Given the description of an element on the screen output the (x, y) to click on. 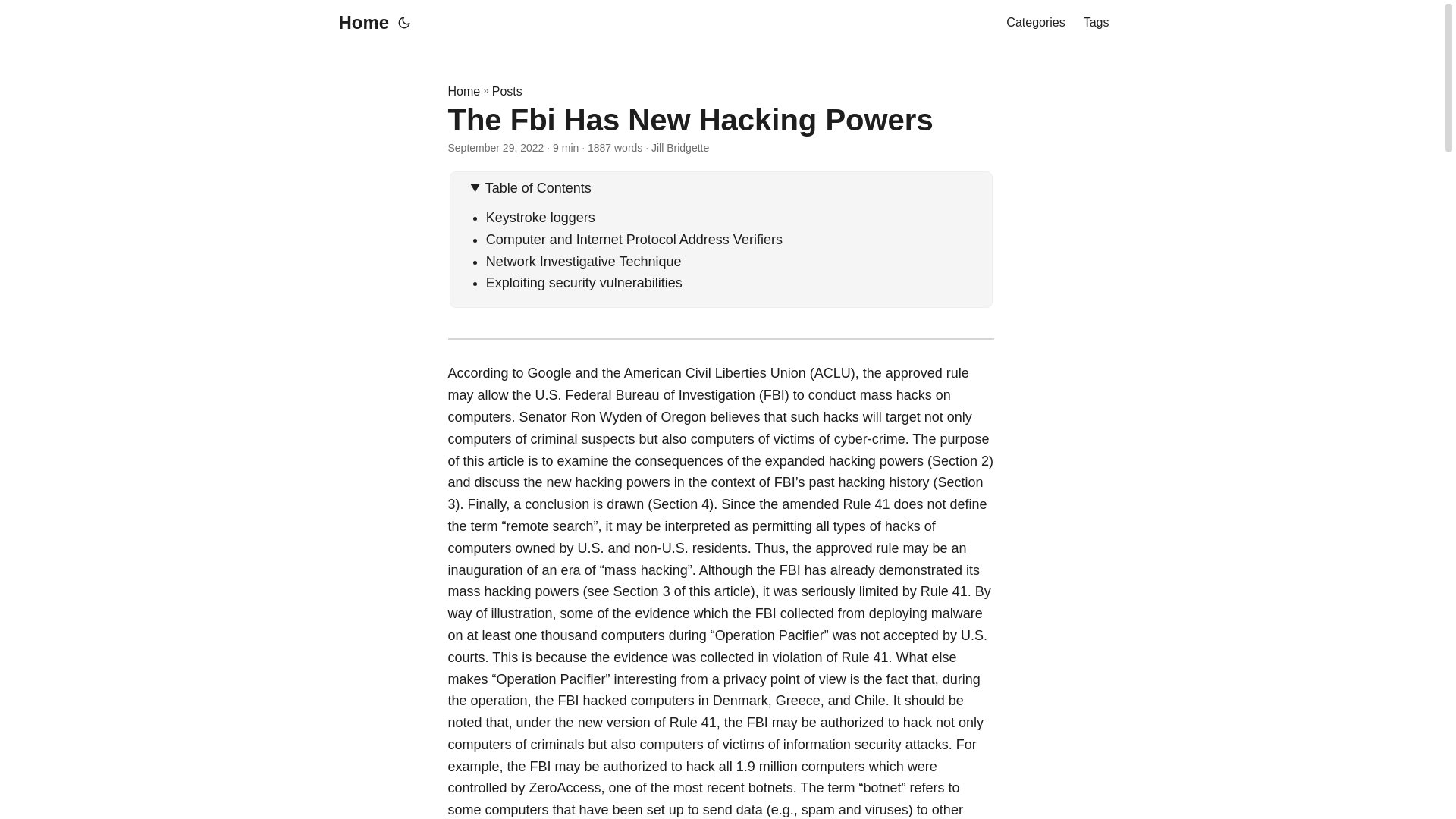
Home (359, 22)
Categories (1035, 22)
Network Investigative Technique (583, 261)
Home (463, 91)
Keystroke loggers (540, 217)
Computer and Internet Protocol Address Verifiers (634, 239)
Posts (507, 91)
Exploiting security vulnerabilities (584, 282)
Categories (1035, 22)
